Given the description of an element on the screen output the (x, y) to click on. 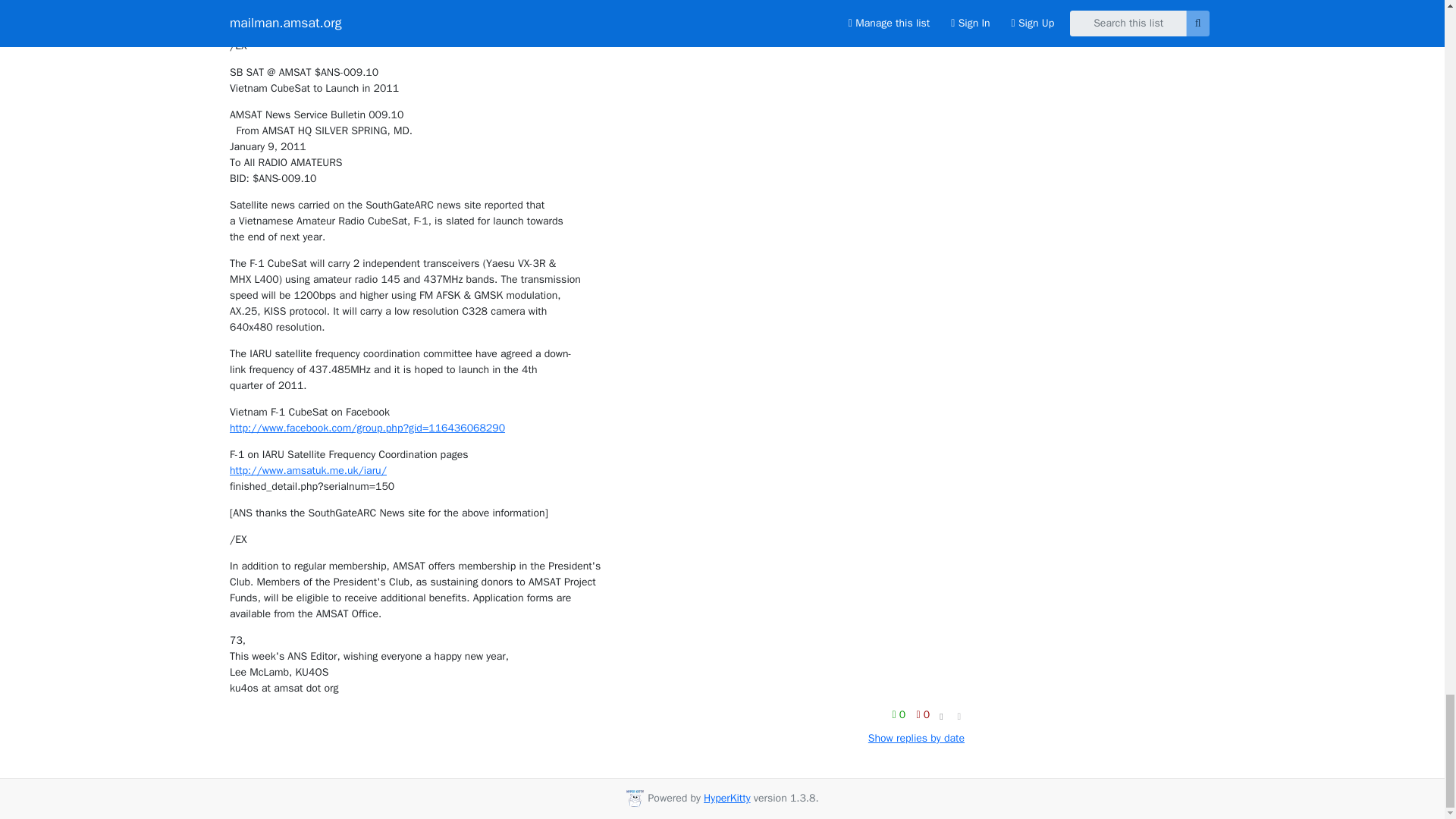
0 (900, 714)
HyperKitty (727, 797)
You must be logged-in to vote. (900, 714)
0 (922, 714)
You must be logged-in to vote. (922, 714)
Show replies by date (915, 738)
